Given the description of an element on the screen output the (x, y) to click on. 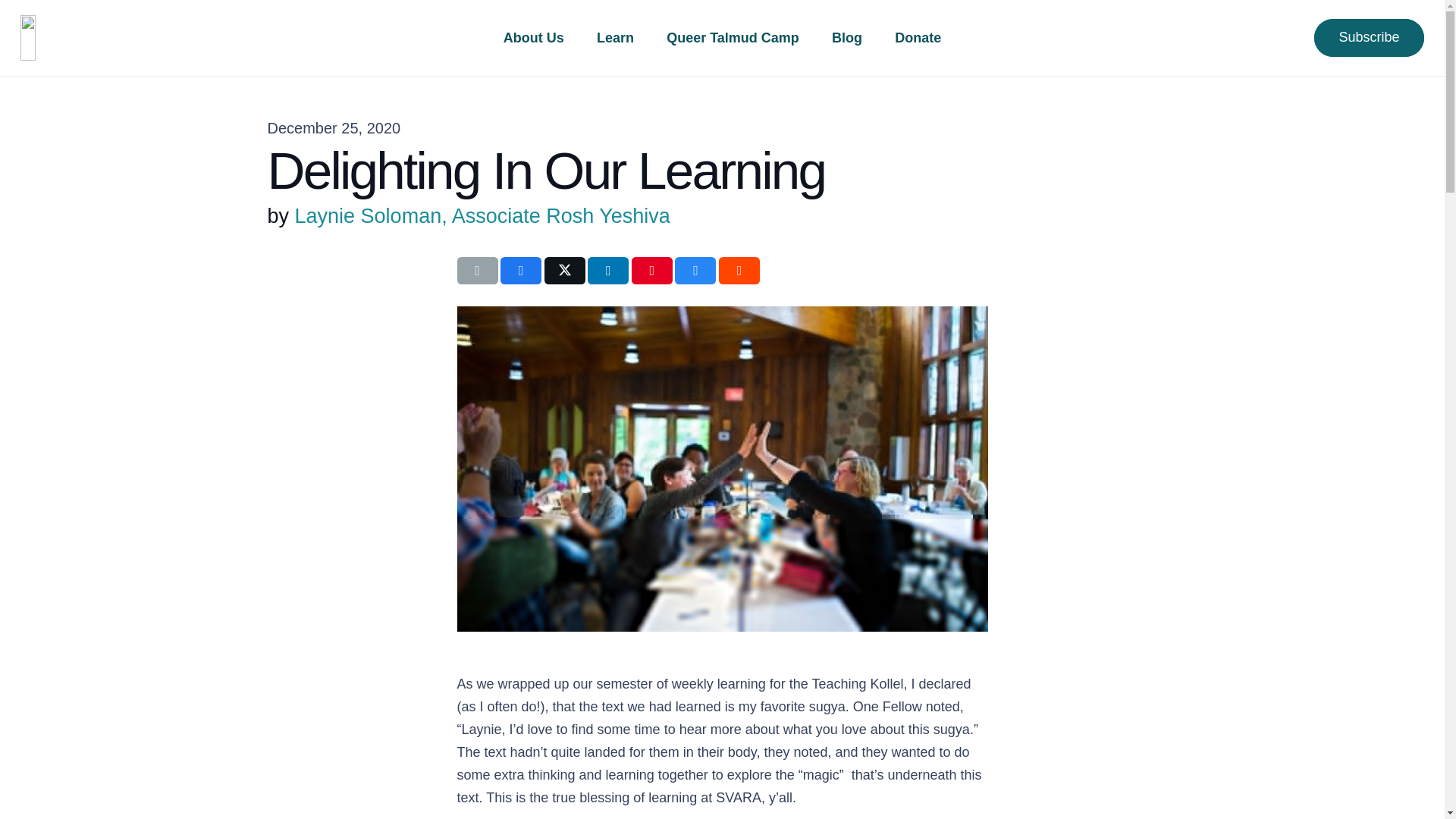
Share this (739, 270)
Learn (614, 38)
About Us (532, 38)
Donate (918, 38)
Tweet this (564, 270)
Email this (477, 270)
Share this (695, 270)
Pin this (651, 270)
Queer Talmud Camp (732, 38)
Share this (608, 270)
Laynie Soloman, Associate Rosh Yeshiva (482, 215)
Blog (846, 38)
Subscribe (1368, 37)
Share this (520, 270)
